Given the description of an element on the screen output the (x, y) to click on. 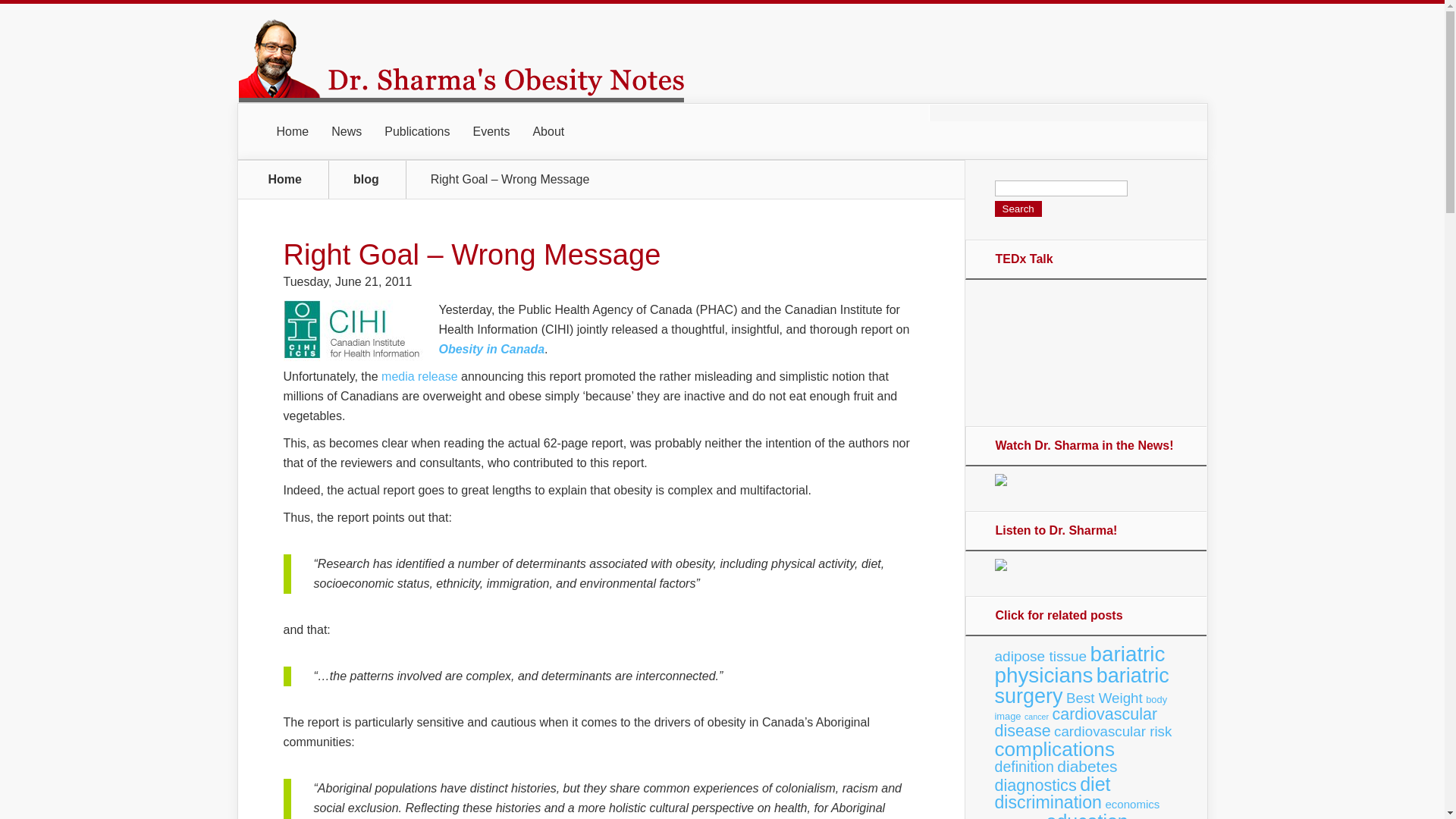
bariatric surgery (1081, 685)
discrimination (1048, 802)
diagnostics (1035, 784)
bariatric physicians (1080, 664)
Publications (416, 131)
ectopic fat (1018, 818)
sharma-obesity-cihi-logo (355, 331)
Home (285, 179)
definition (1024, 766)
cardiovascular risk (1113, 731)
